Given the description of an element on the screen output the (x, y) to click on. 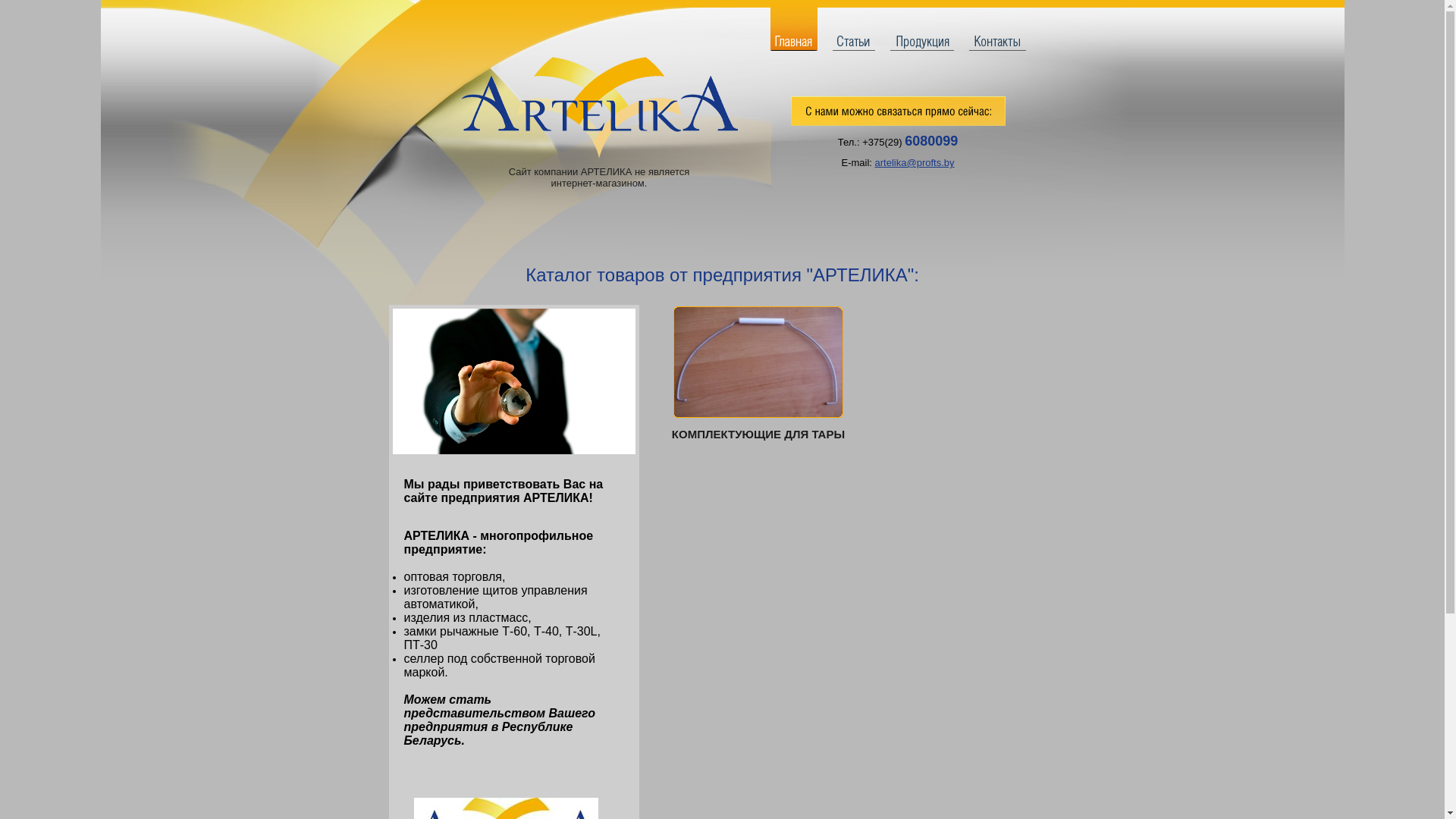
artelika@profts.by Element type: text (914, 162)
